Given the description of an element on the screen output the (x, y) to click on. 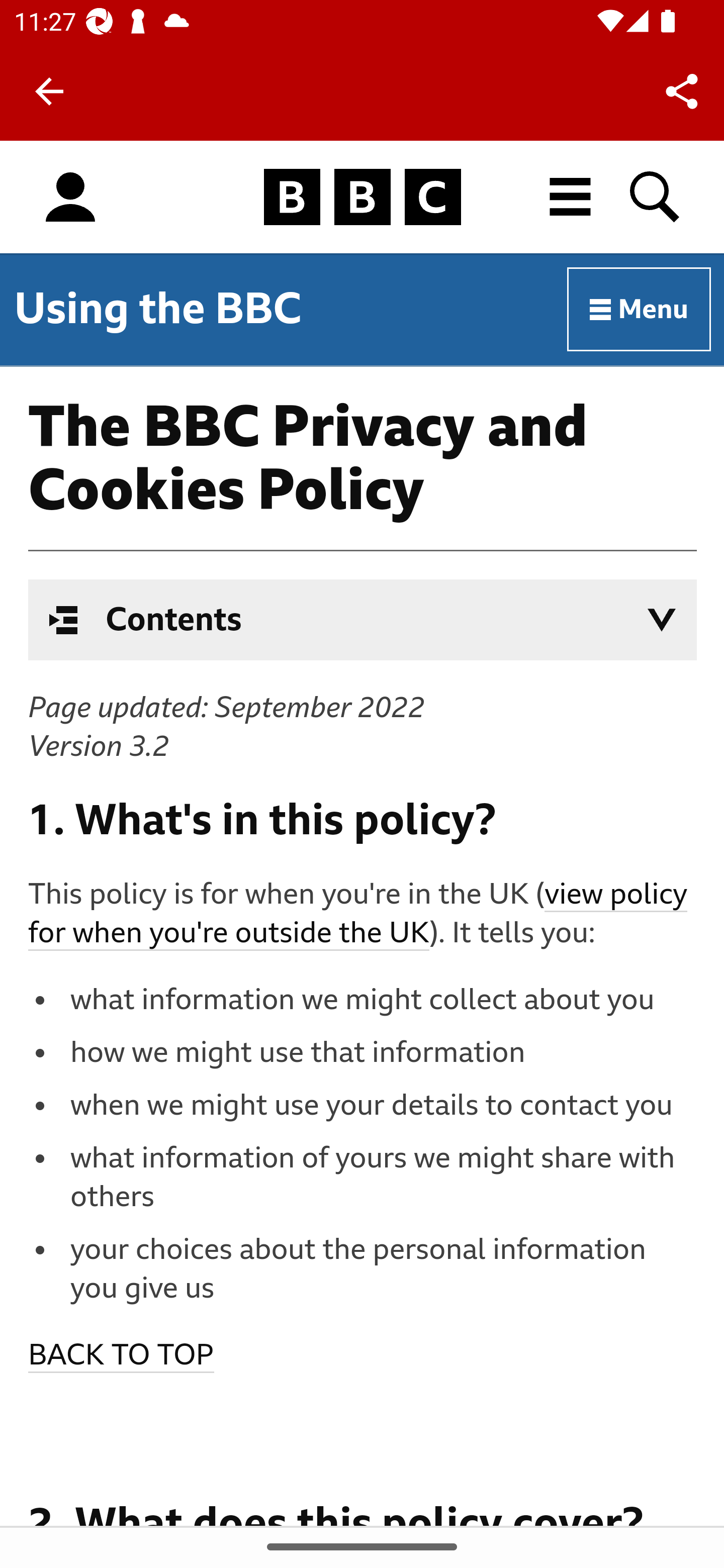
Back (49, 91)
Share (681, 90)
All BBC destinations menu (570, 197)
Search BBC (655, 197)
Sign in (70, 198)
Homepage (361, 198)
Menu (639, 309)
Using the BBC (157, 307)
Open in-page navigation (661, 620)
view policy for when you're outside the UK (357, 914)
BACK TO TOP (121, 1356)
